Given the description of an element on the screen output the (x, y) to click on. 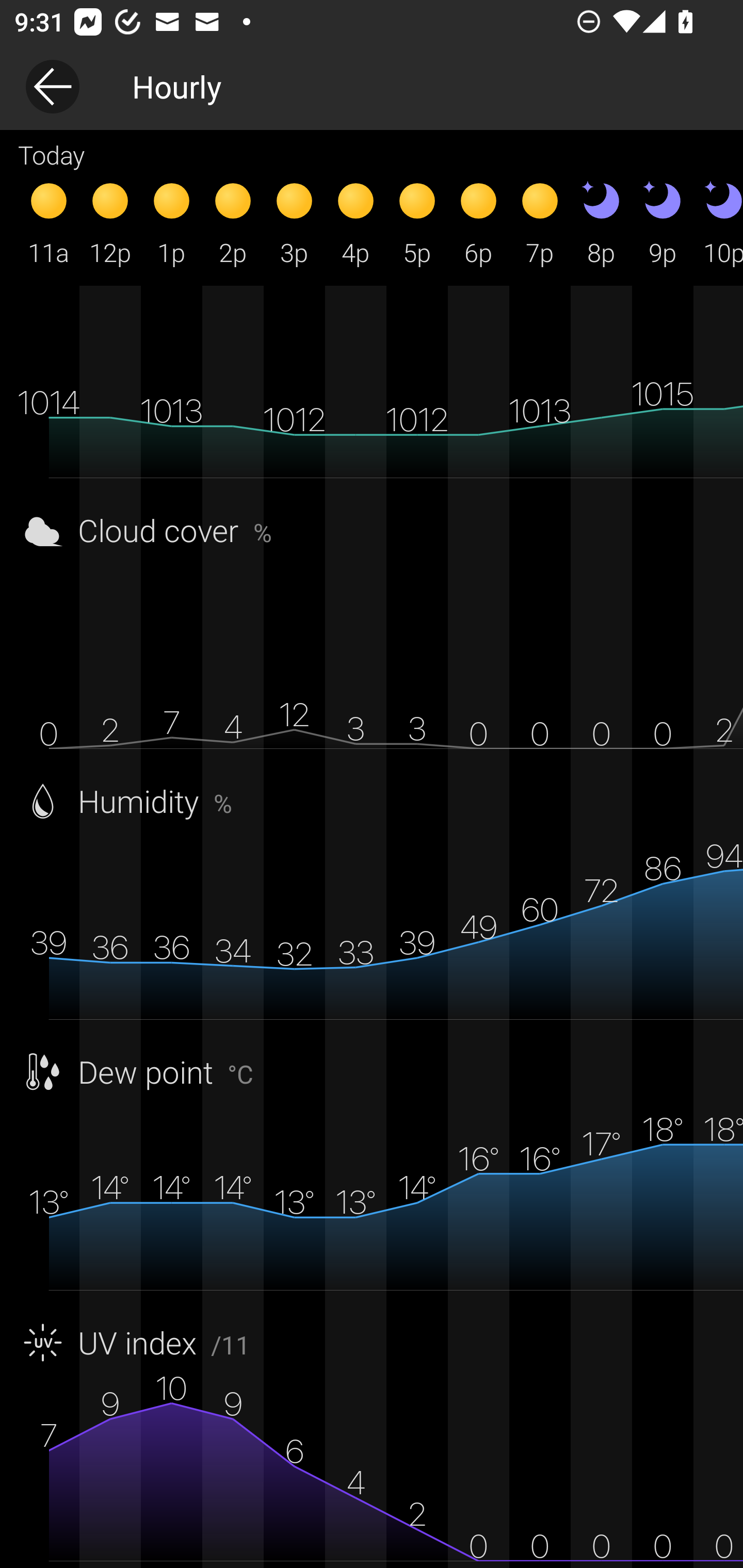
11a (48, 222)
12p (110, 222)
1p (171, 222)
2p (232, 222)
3p (294, 222)
4p (355, 222)
5p (417, 222)
6p (478, 222)
7p (539, 222)
8p (601, 222)
9p (662, 222)
10p (718, 222)
